Given the description of an element on the screen output the (x, y) to click on. 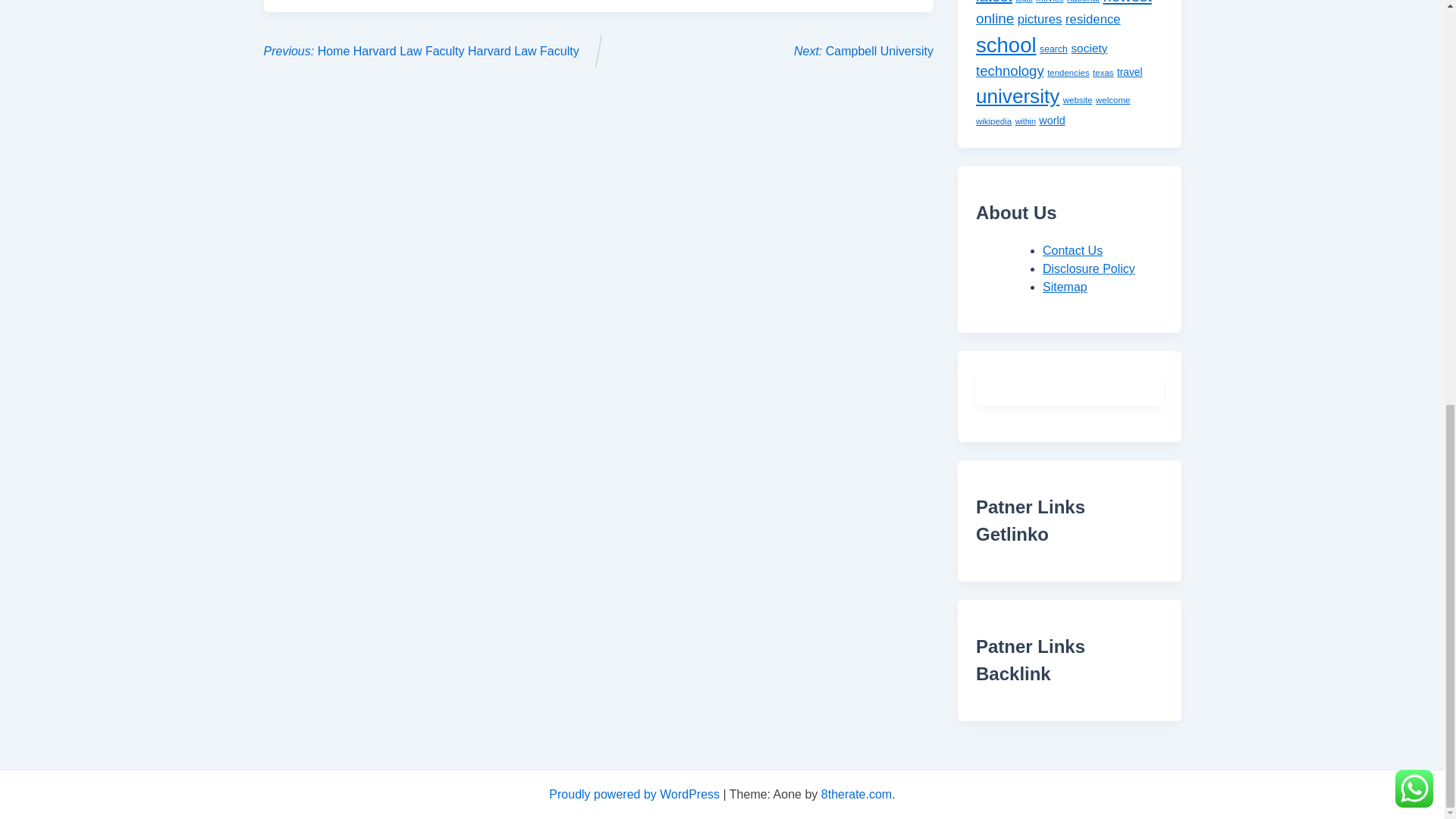
Next: Campbell University (863, 51)
Previous: Home Harvard Law Faculty Harvard Law Faculty (421, 51)
